Given the description of an element on the screen output the (x, y) to click on. 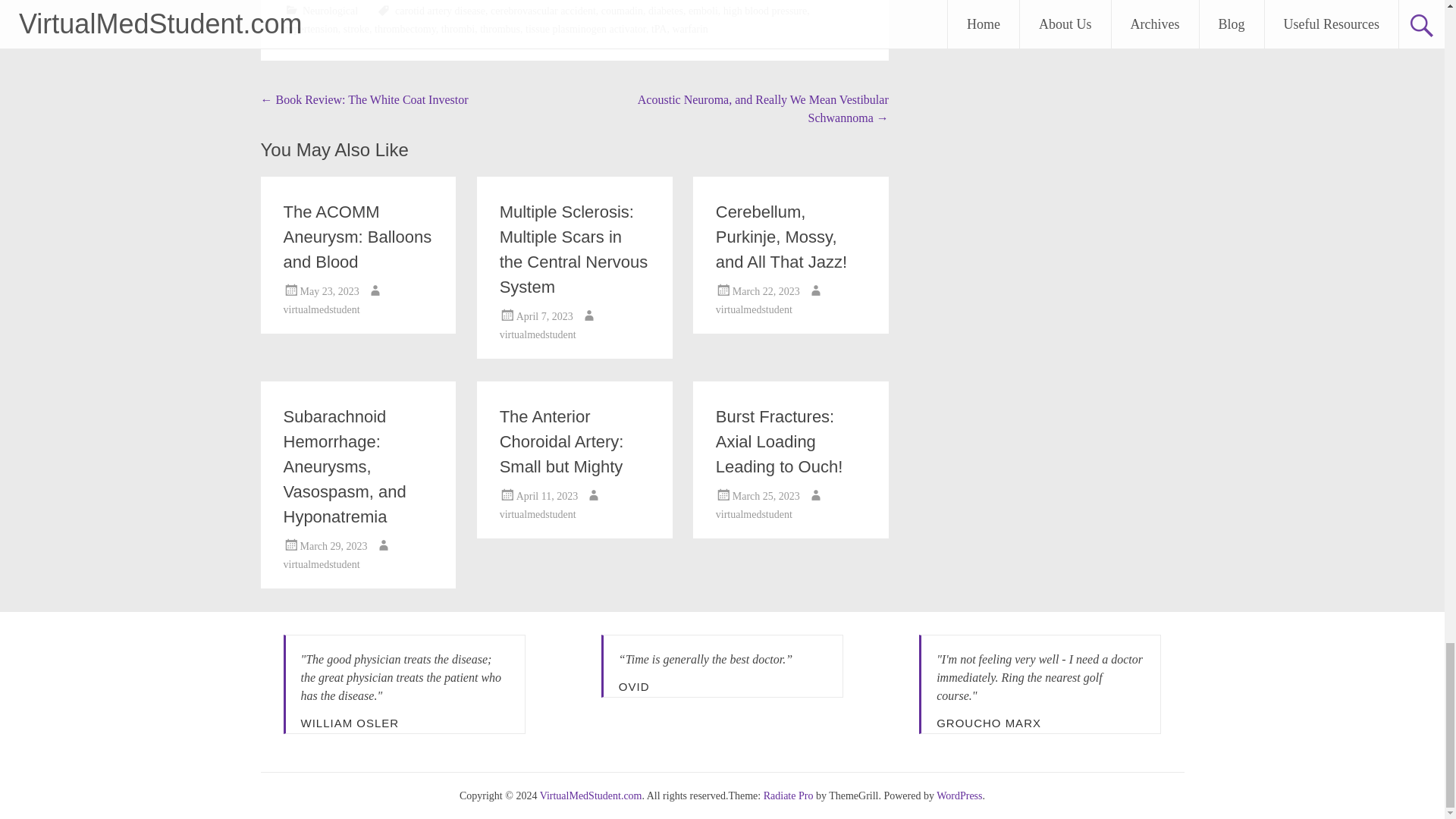
WordPress (958, 795)
carotid artery disease (439, 10)
VirtualMedStudent.com (591, 795)
Cerebellum, Purkinje, Mossy, and All That Jazz! (781, 236)
Burst Fractures: Axial Loading Leading to Ouch! (779, 441)
Neurological (330, 10)
Radiate Pro (787, 795)
The ACOMM Aneurysm: Balloons and Blood (357, 236)
The Anterior Choroidal Artery: Small but Mighty (561, 441)
